Given the description of an element on the screen output the (x, y) to click on. 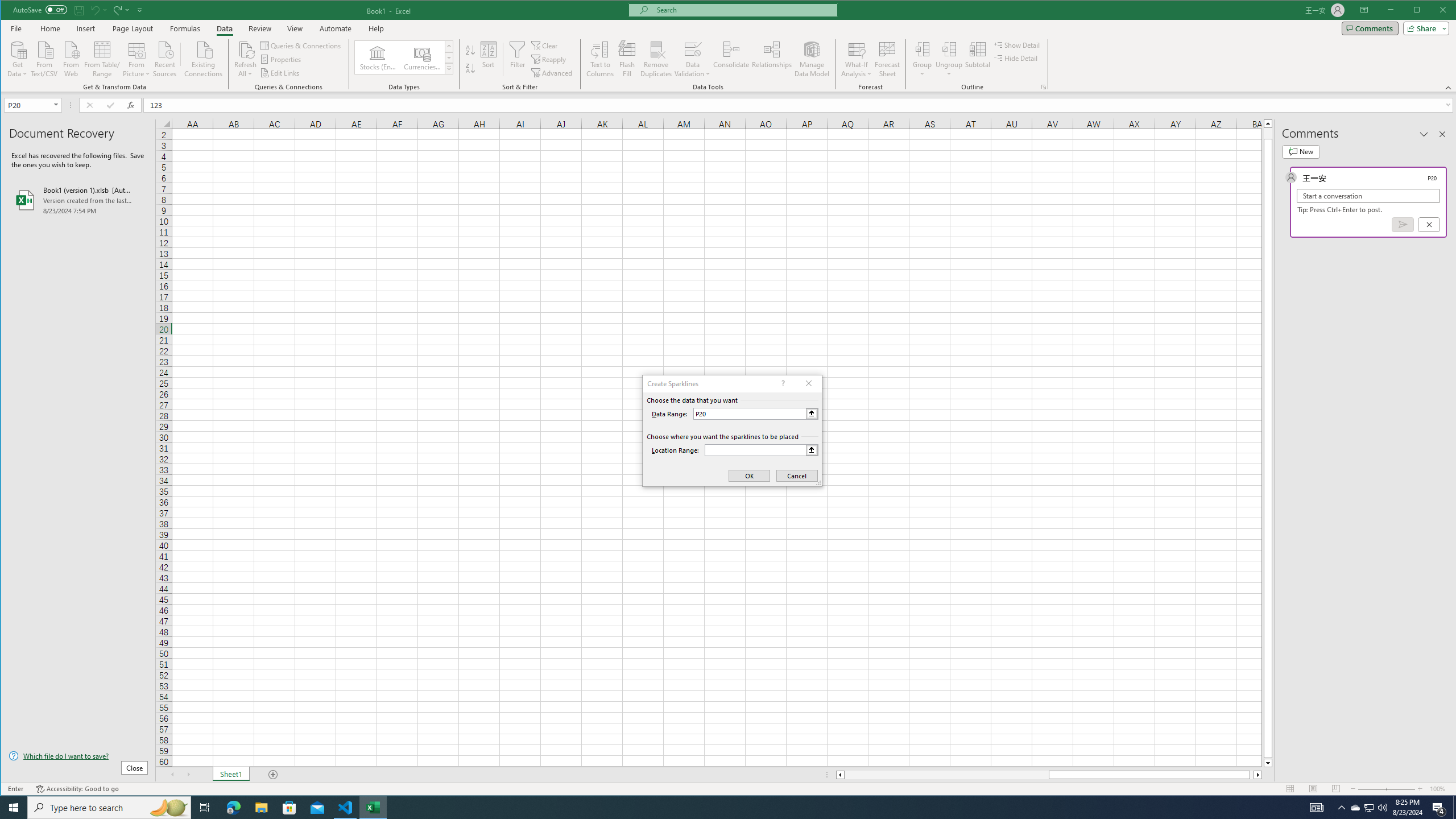
New comment (1300, 151)
Post comment (Ctrl + Enter) (1402, 224)
